Given the description of an element on the screen output the (x, y) to click on. 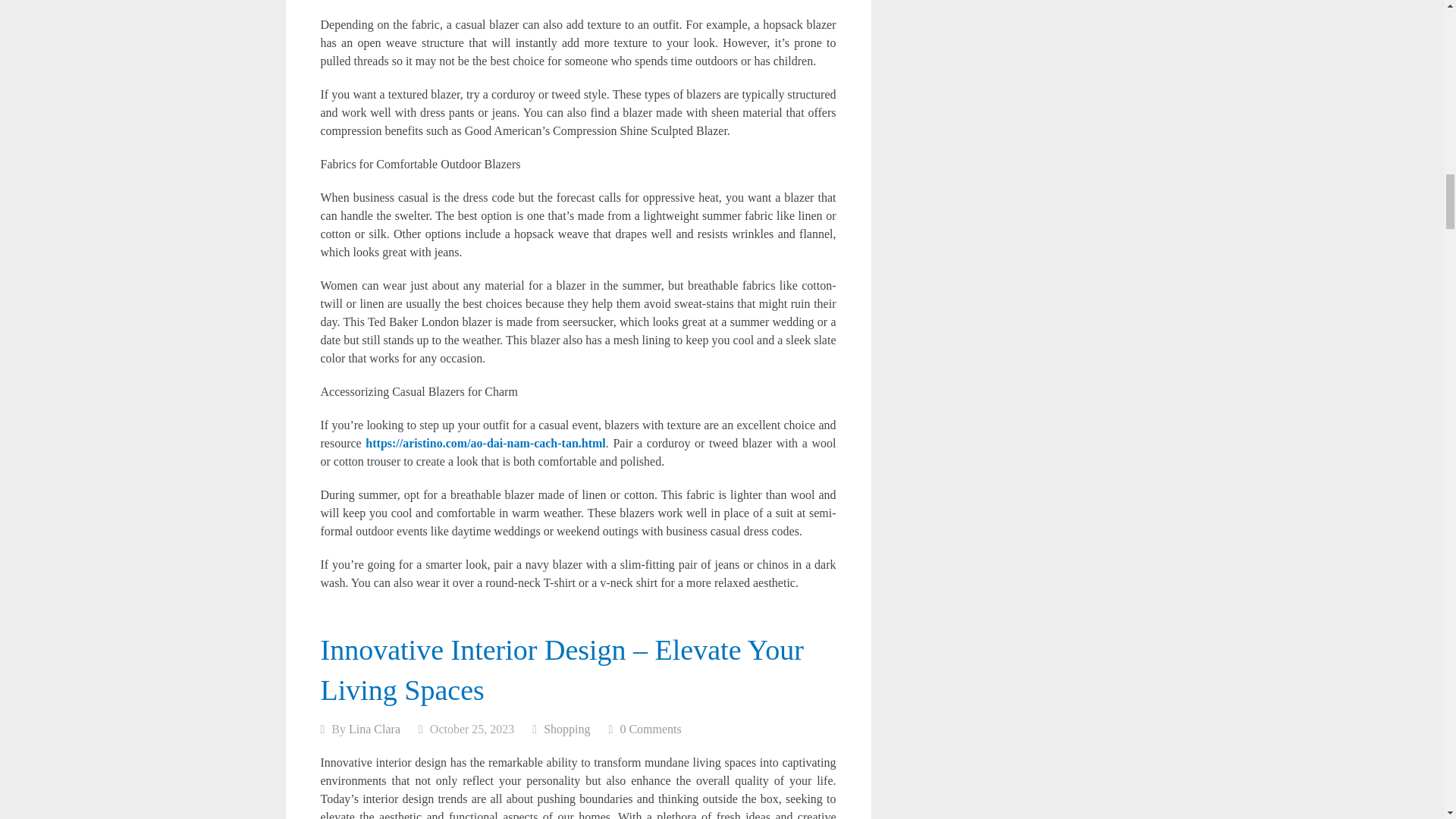
Posts by Lina Clara (374, 727)
Shopping (566, 727)
0 Comments (650, 727)
Lina Clara (374, 727)
